Given the description of an element on the screen output the (x, y) to click on. 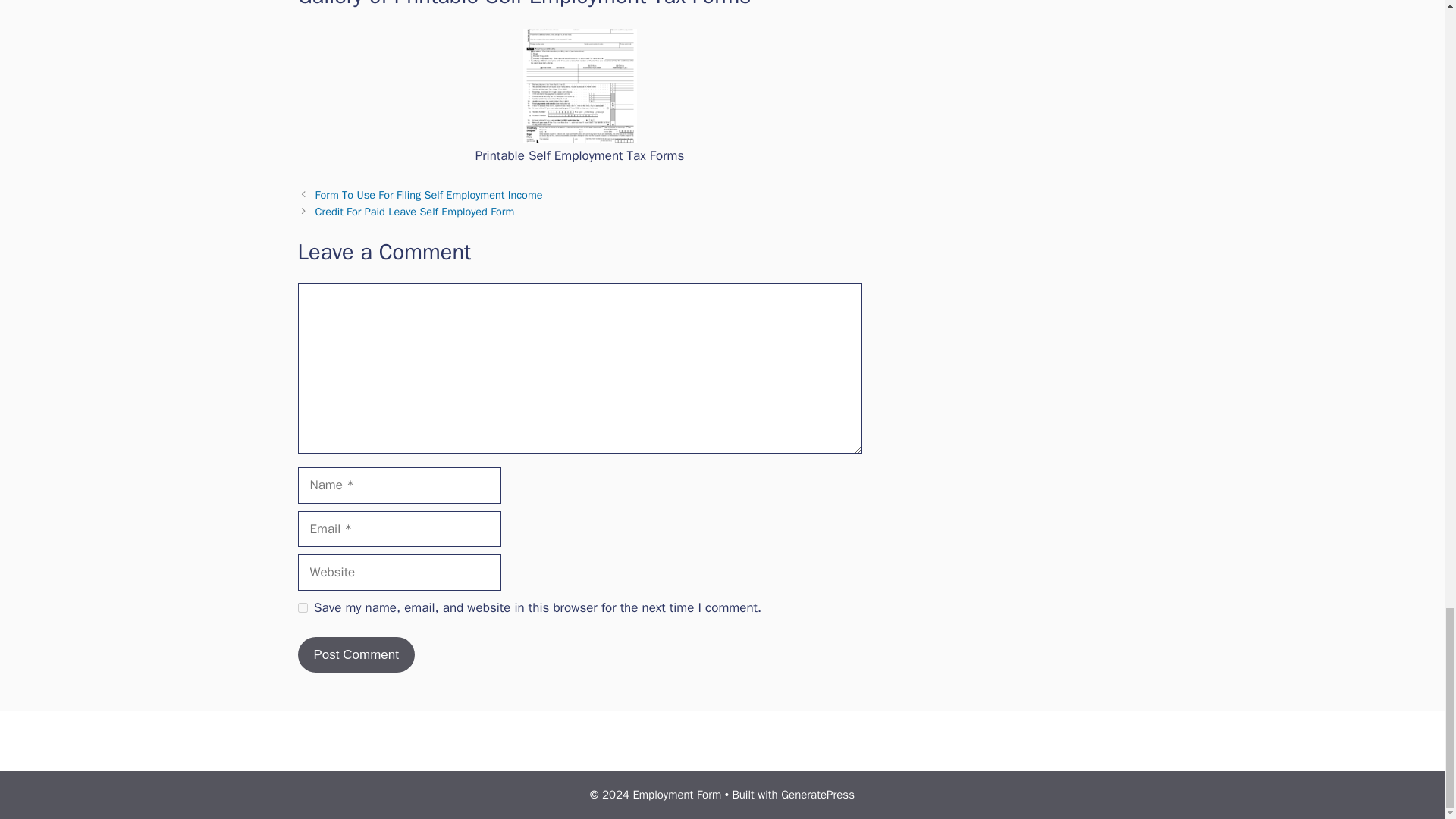
Post Comment (355, 655)
Form To Use For Filing Self Employment Income (429, 194)
yes (302, 607)
Credit For Paid Leave Self Employed Form (415, 211)
GeneratePress (817, 794)
Post Comment (355, 655)
